Given the description of an element on the screen output the (x, y) to click on. 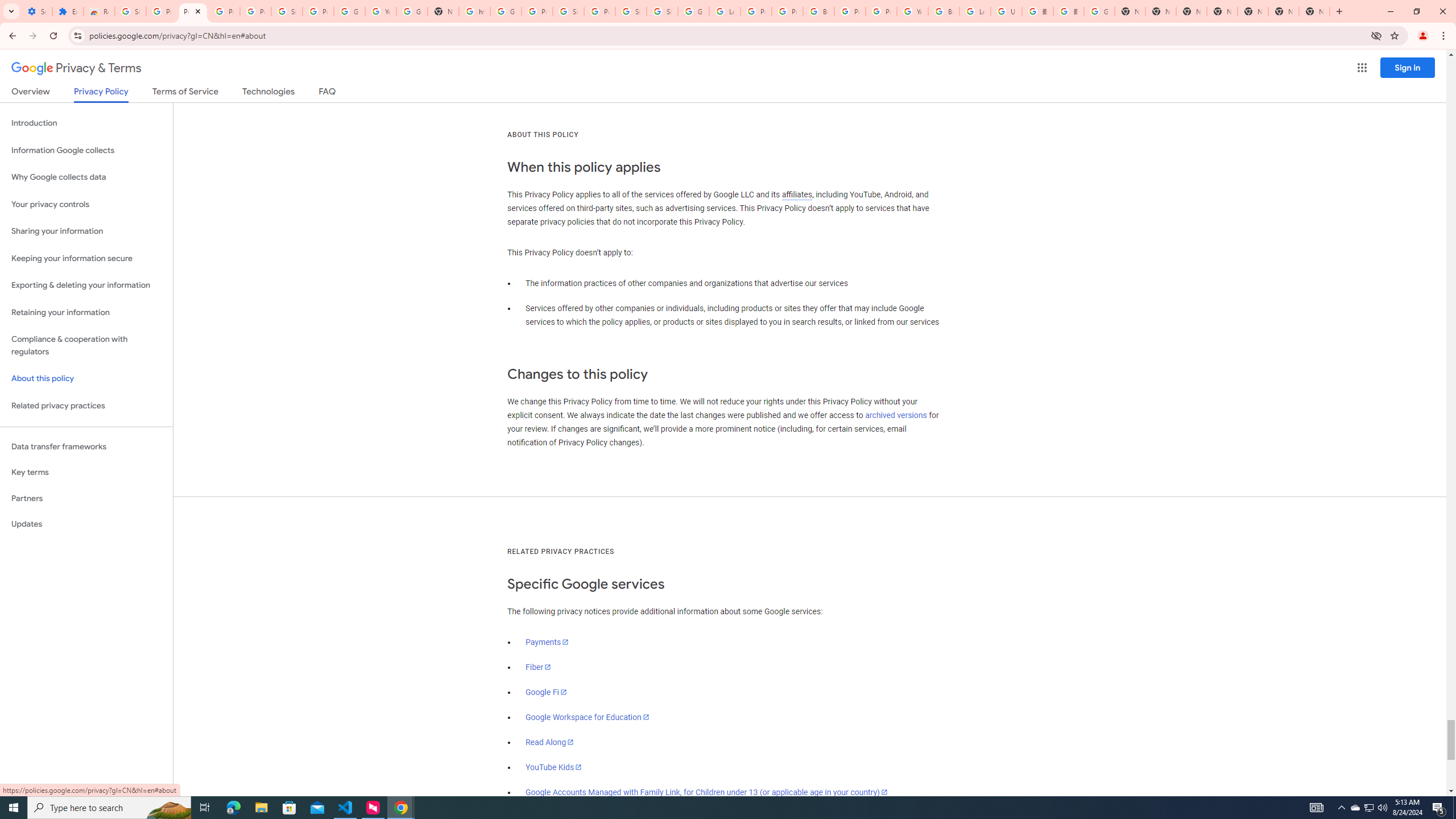
Extensions (67, 11)
Privacy Help Center - Policies Help (787, 11)
Keeping your information secure (86, 258)
